Given the description of an element on the screen output the (x, y) to click on. 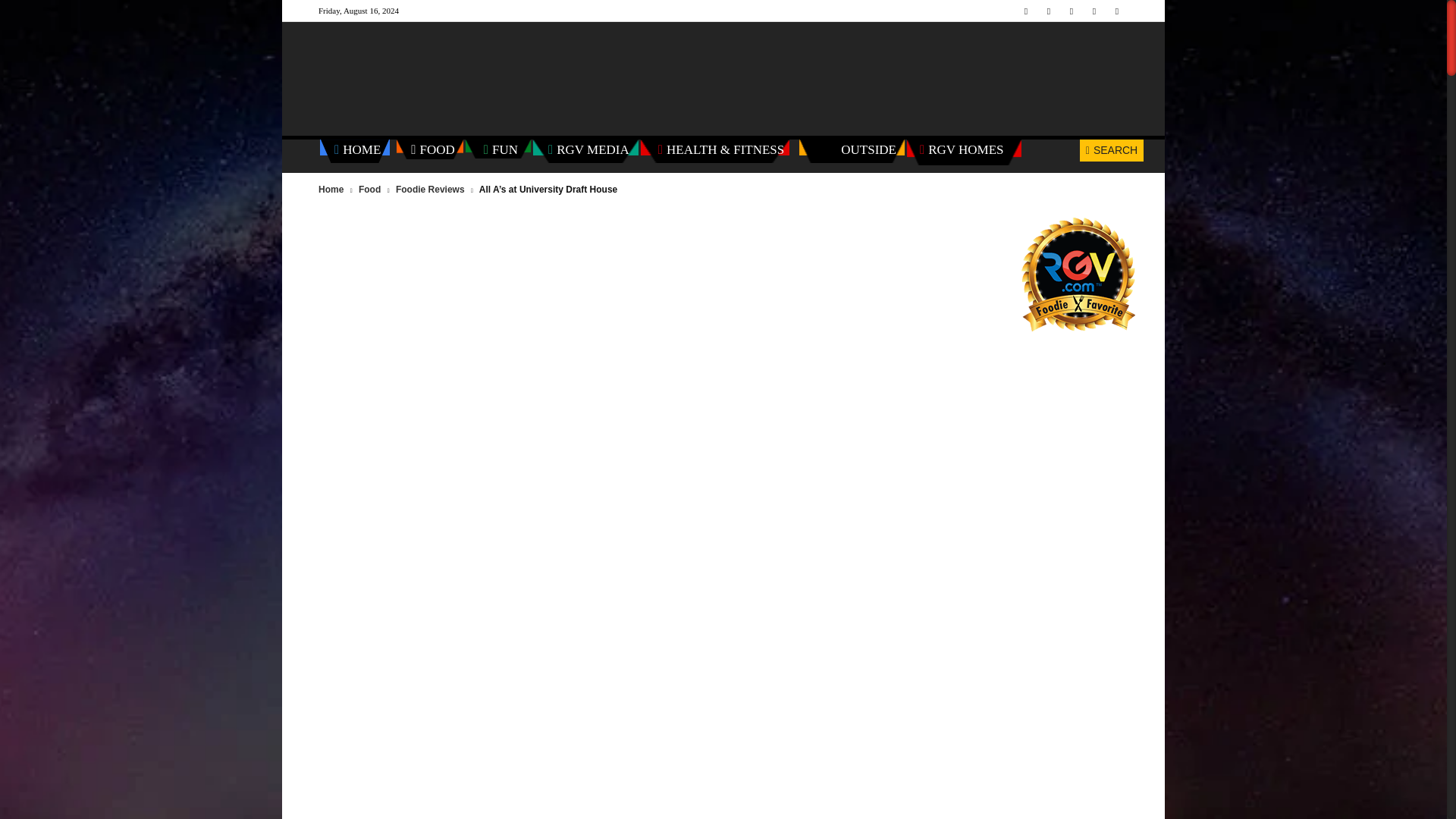
RGV Food: Best of the Best (141, 209)
Adults (141, 623)
Spanish (141, 681)
Youtube (1116, 10)
Pinterest (1071, 10)
Christian (141, 710)
HOME (357, 150)
Facebook (1025, 10)
RGV Bookworms (141, 537)
